Given the description of an element on the screen output the (x, y) to click on. 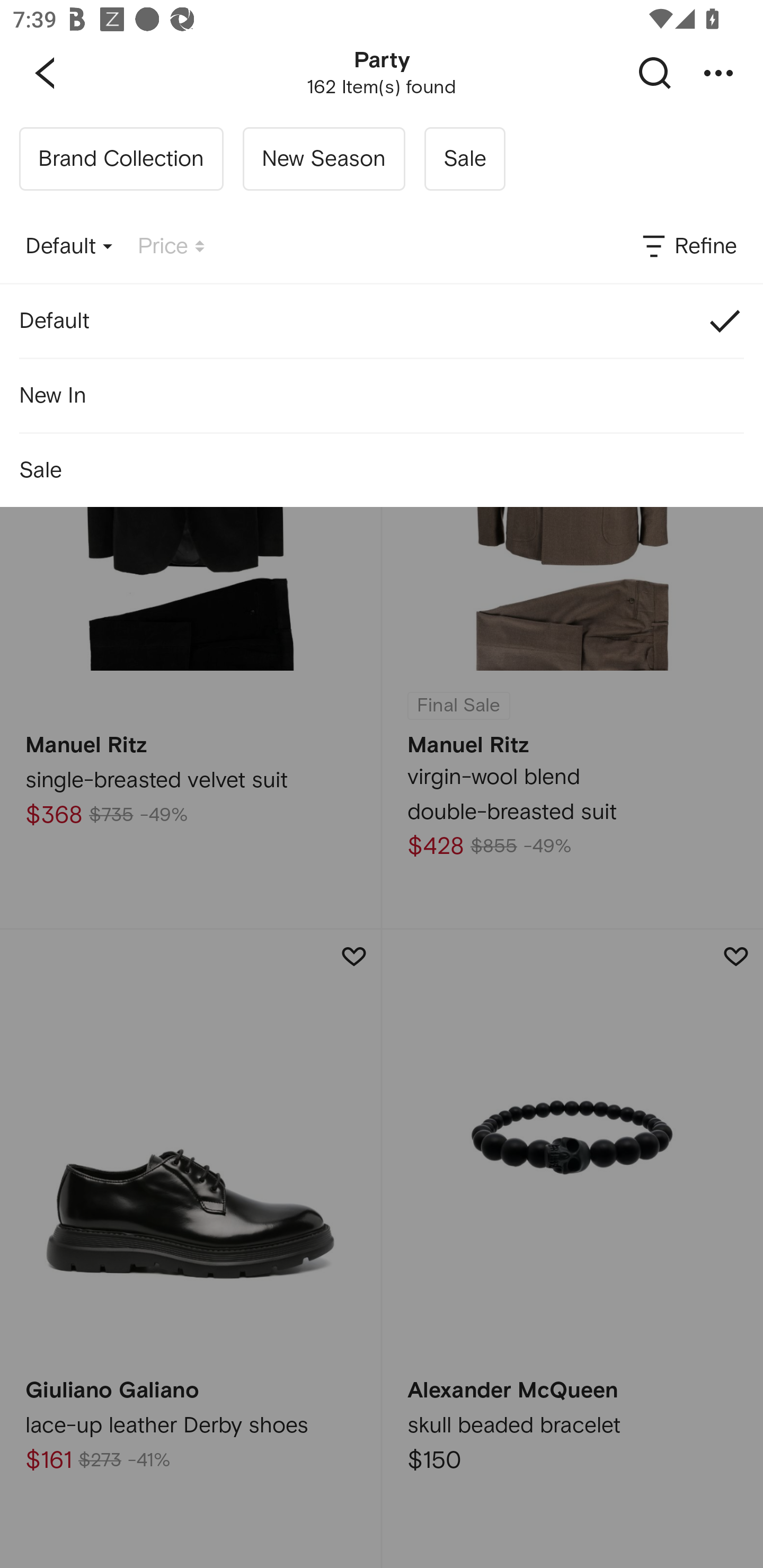
Brand Collection (121, 158)
New Season (323, 158)
Sale (464, 158)
Default (68, 246)
Price (171, 246)
Refine (688, 246)
Default (381, 320)
New In (381, 394)
Sale (381, 470)
